Given the description of an element on the screen output the (x, y) to click on. 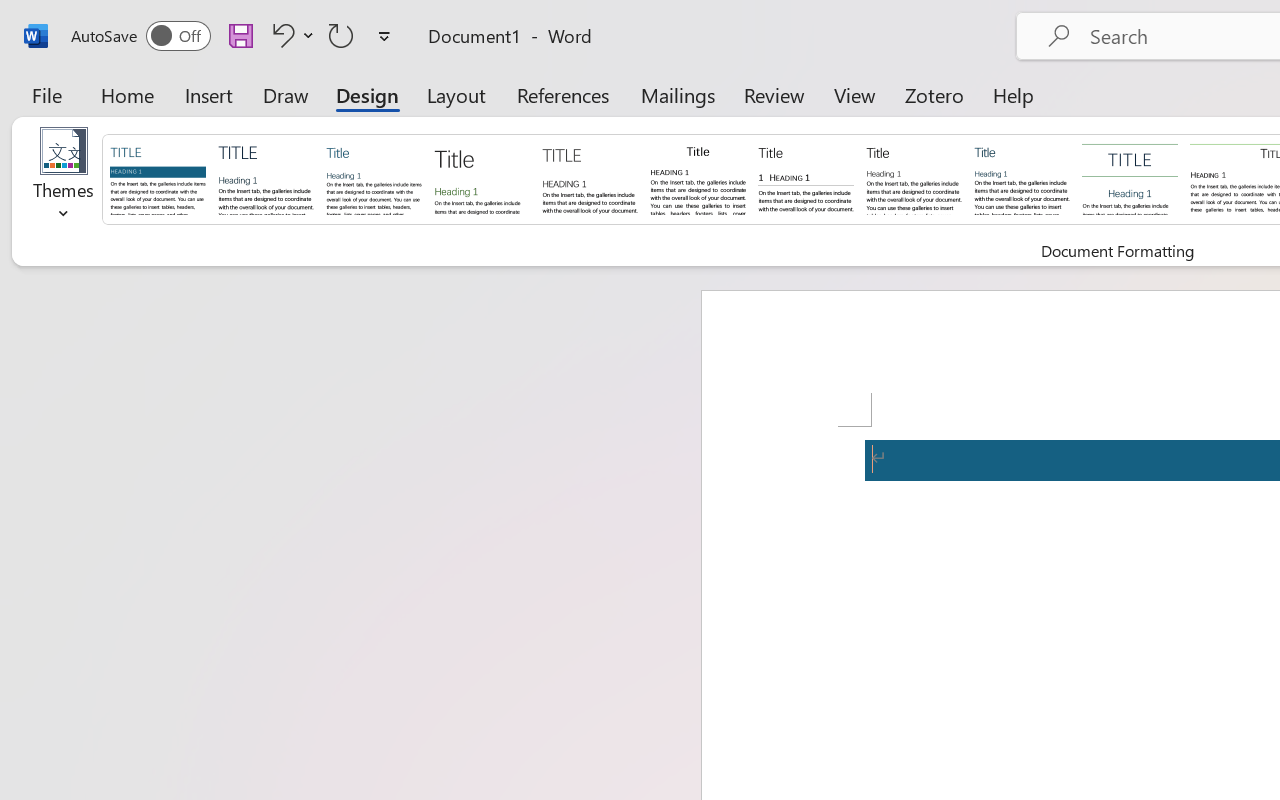
New Tab (870, 22)
Chrome Web Store (1111, 522)
More actions for Chrome Web Store shortcut (1151, 480)
Chrome Web Store (394, 22)
